Given the description of an element on the screen output the (x, y) to click on. 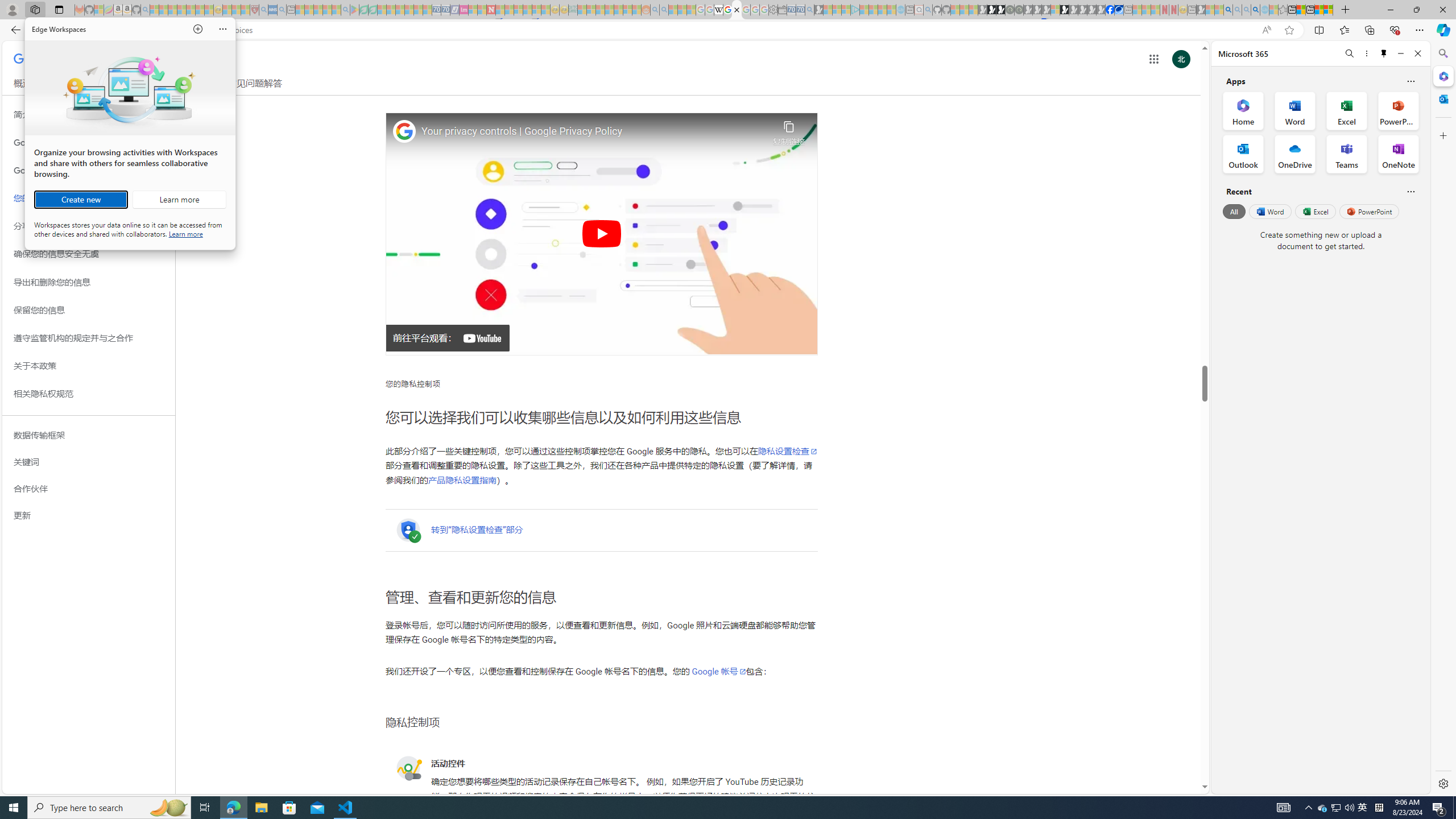
Running applications (700, 807)
PowerPoint Office App (1398, 110)
